Given the description of an element on the screen output the (x, y) to click on. 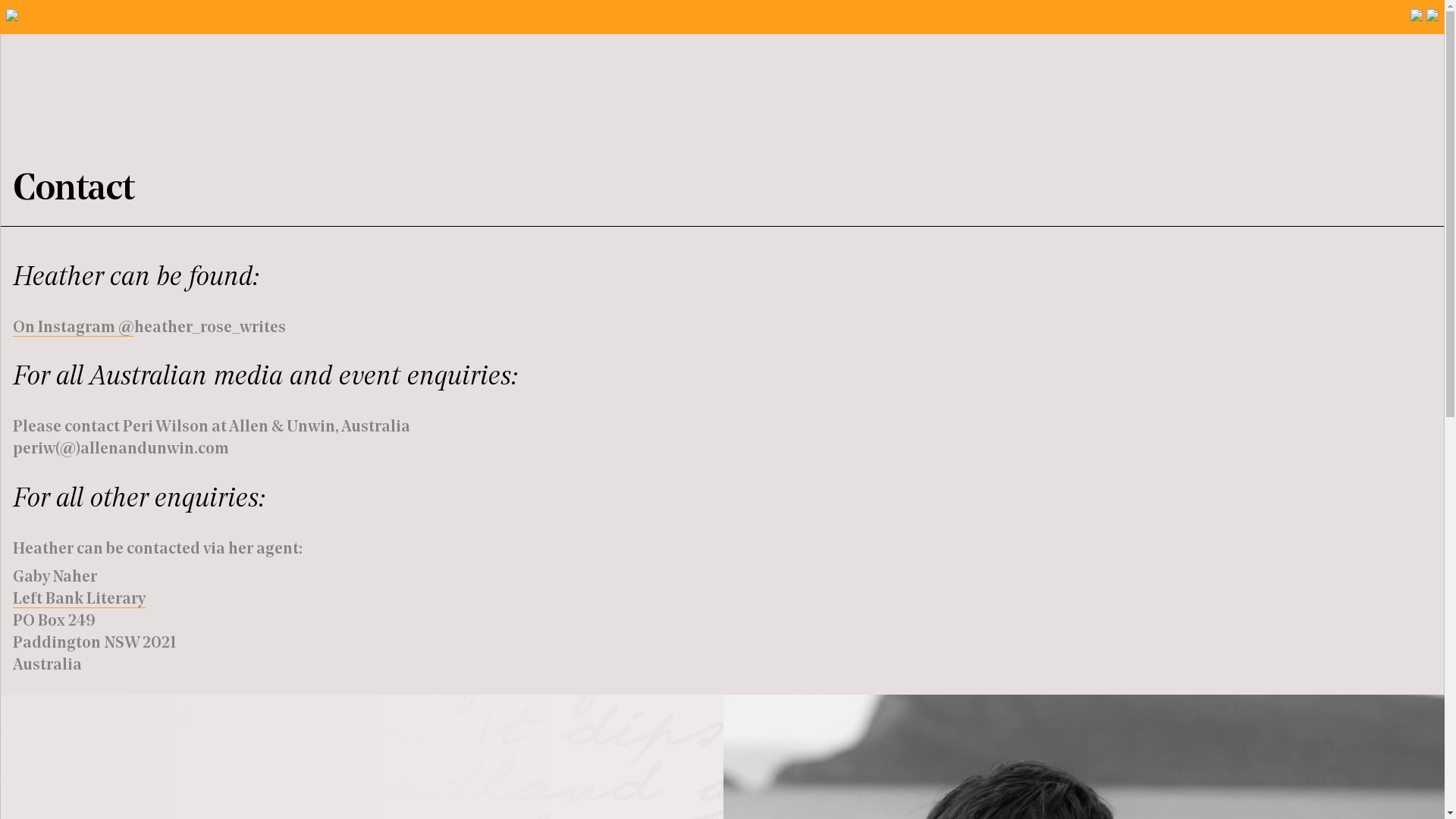
Left Bank Literary Element type: text (78, 599)
On Instagram @ Element type: text (73, 328)
